Given the description of an element on the screen output the (x, y) to click on. 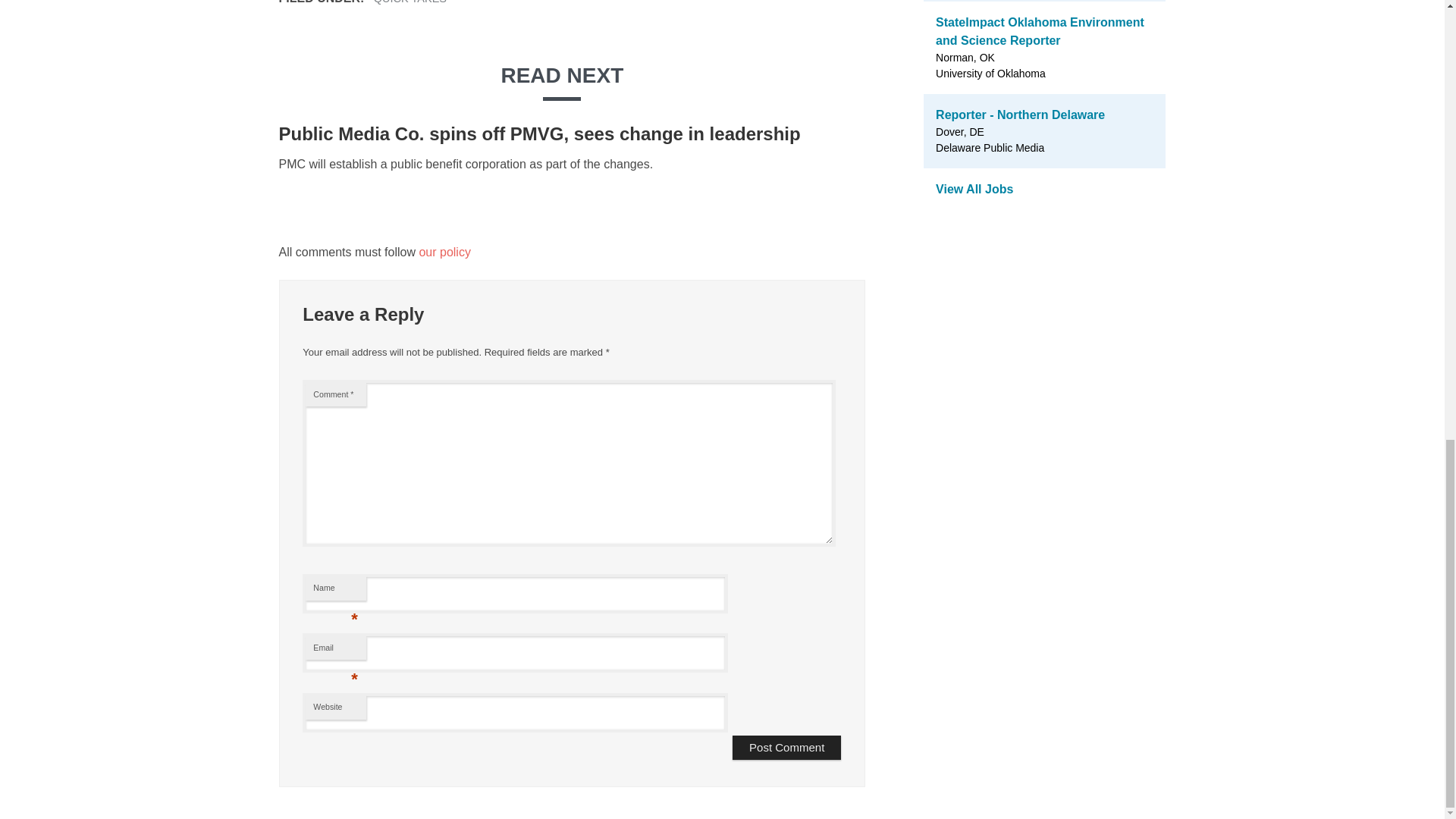
Read:  (539, 133)
Read Posts in the Quick Takes category (410, 2)
Post Comment (786, 747)
